Given the description of an element on the screen output the (x, y) to click on. 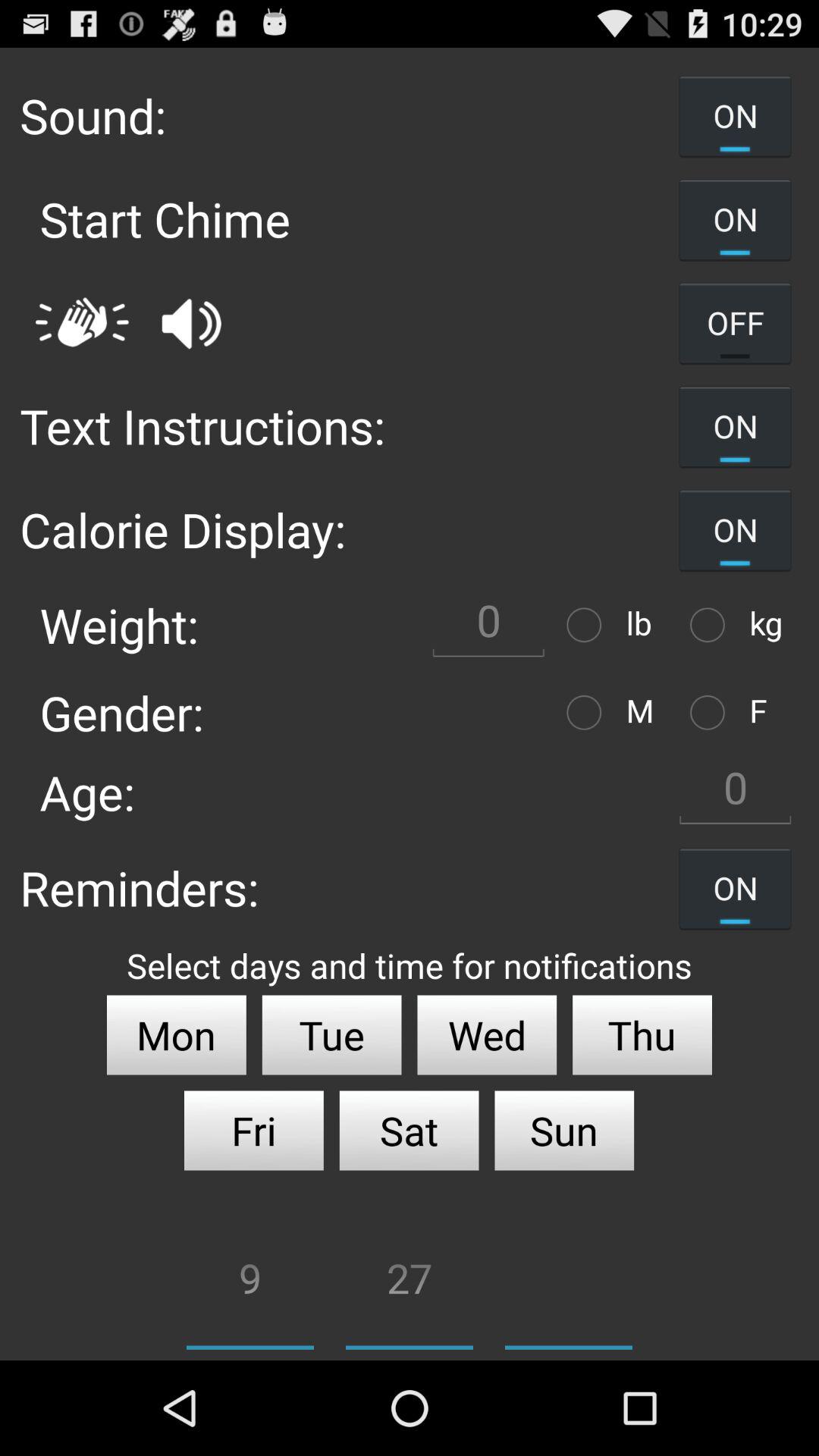
select male gender (587, 712)
